Given the description of an element on the screen output the (x, y) to click on. 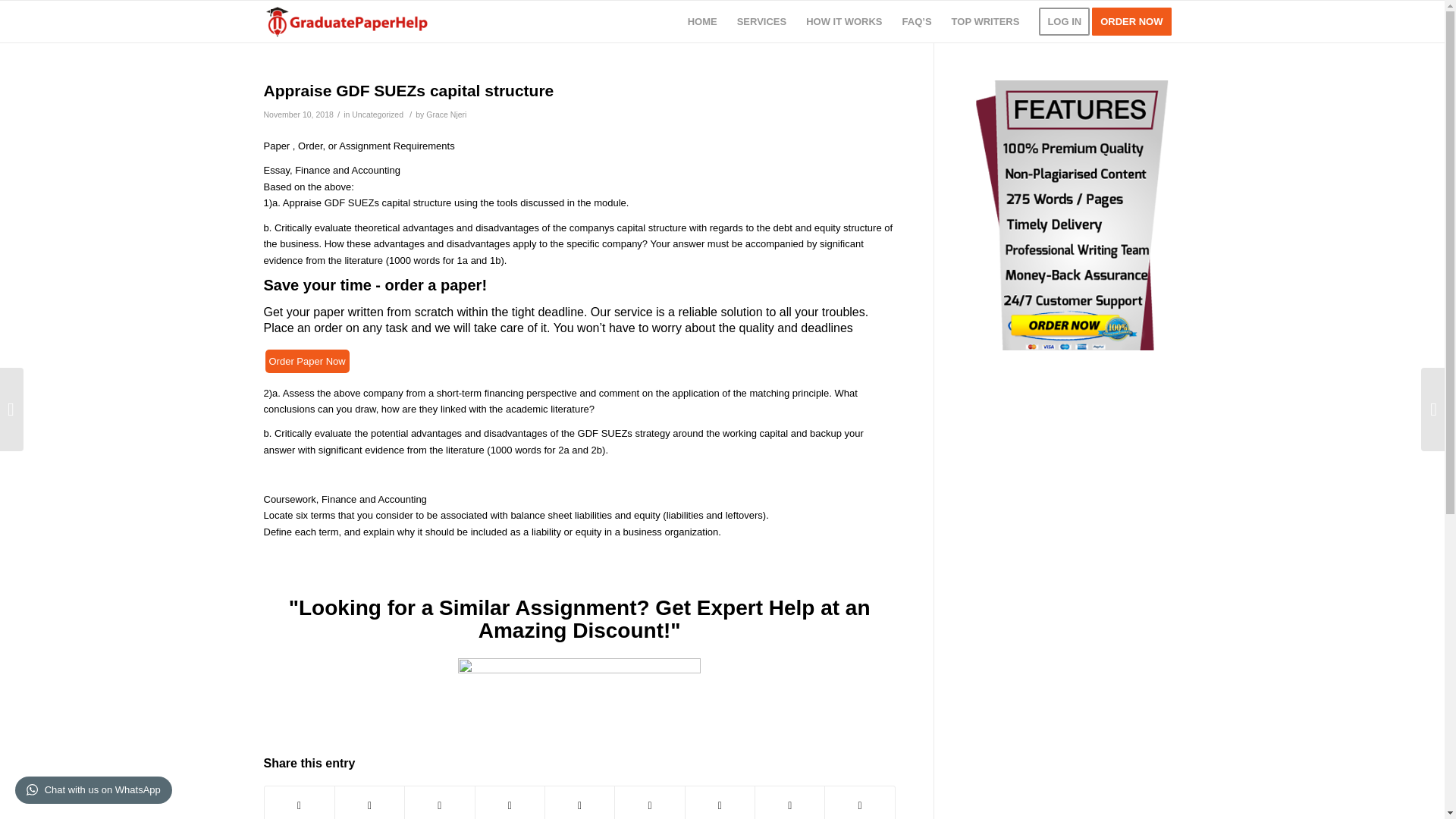
Grace Njeri (445, 113)
LOG IN (1064, 21)
Permanent Link: Appraise GDF SUEZs capital structure (408, 90)
TOP WRITERS (985, 21)
HOW IT WORKS (843, 21)
ORDER NOW (1136, 21)
Appraise GDF SUEZs capital structure (408, 90)
Uncategorized (377, 113)
Order Paper Now (306, 361)
SERVICES (761, 21)
Posts by Grace Njeri (445, 113)
HOME (702, 21)
